Given the description of an element on the screen output the (x, y) to click on. 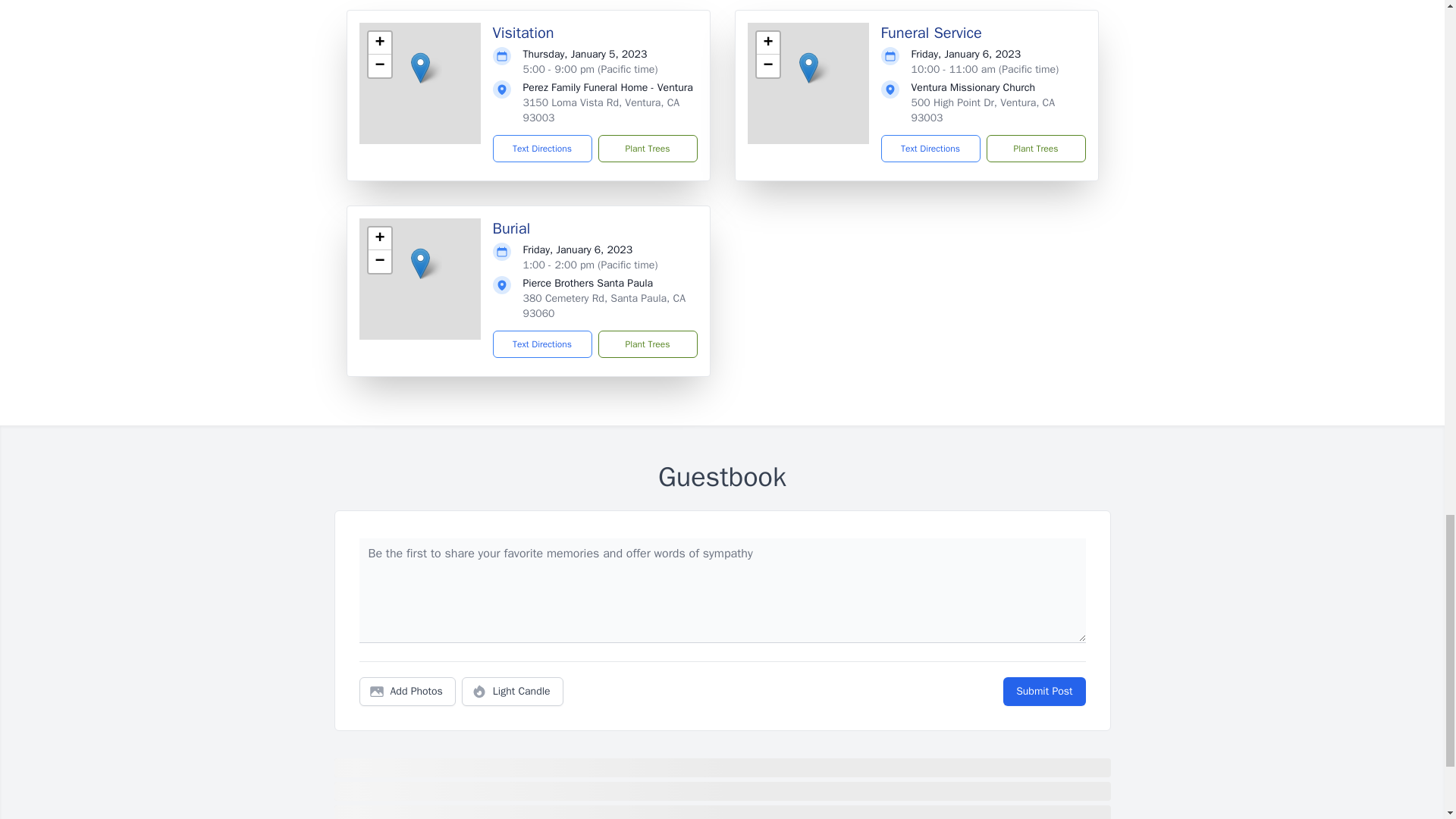
Zoom in (379, 42)
Plant Trees (646, 148)
Zoom out (379, 65)
380 Cemetery Rd, Santa Paula, CA 93060 (603, 305)
3150 Loma Vista Rd, Ventura, CA 93003 (600, 110)
Zoom in (379, 238)
Text Directions (542, 343)
Plant Trees (646, 343)
Zoom out (767, 65)
Plant Trees (1034, 148)
Text Directions (929, 148)
500 High Point Dr, Ventura, CA 93003 (983, 110)
Text Directions (542, 148)
Zoom out (379, 261)
Zoom in (767, 42)
